Given the description of an element on the screen output the (x, y) to click on. 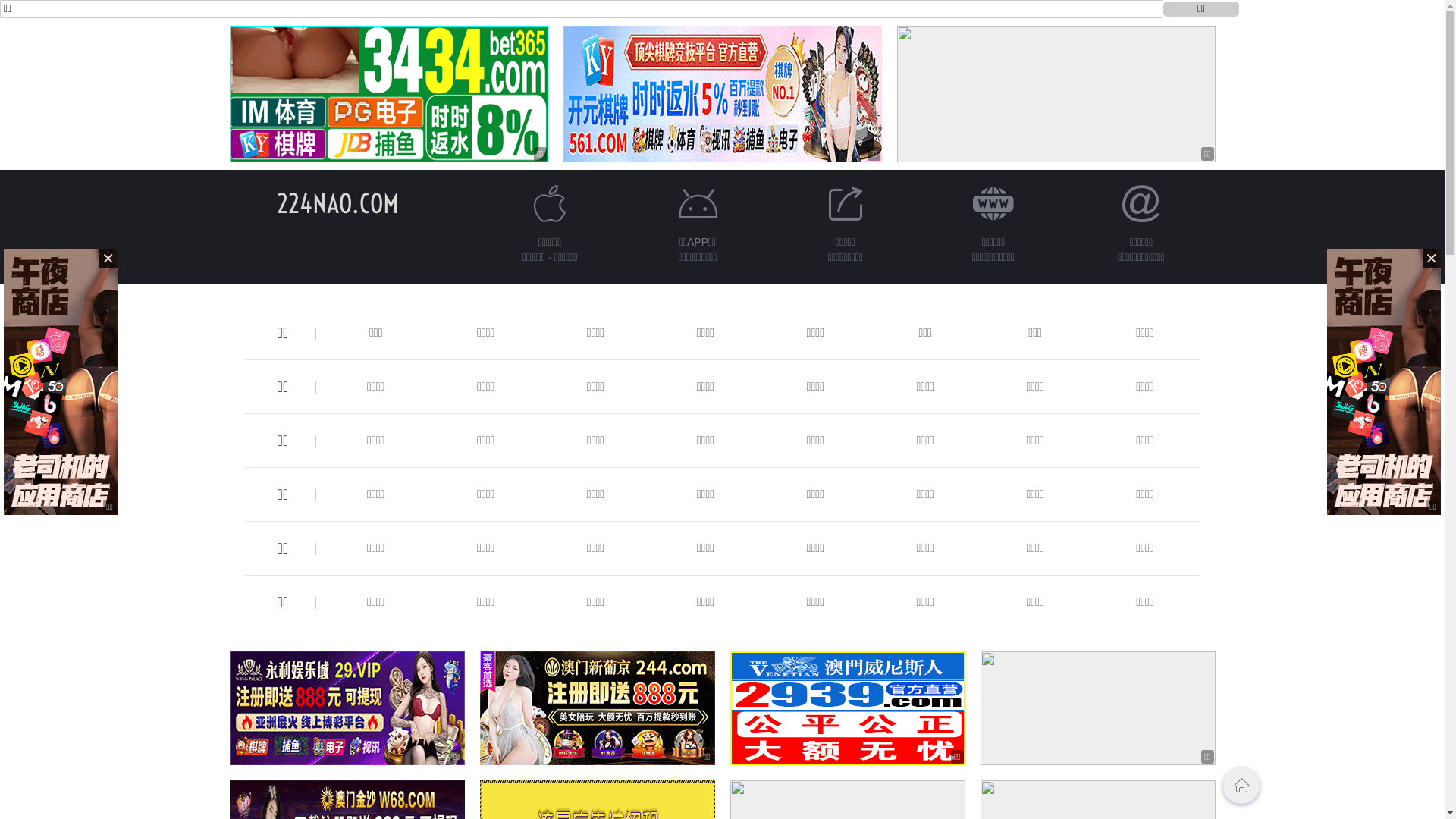
224NAO.COM Element type: text (337, 203)
